Given the description of an element on the screen output the (x, y) to click on. 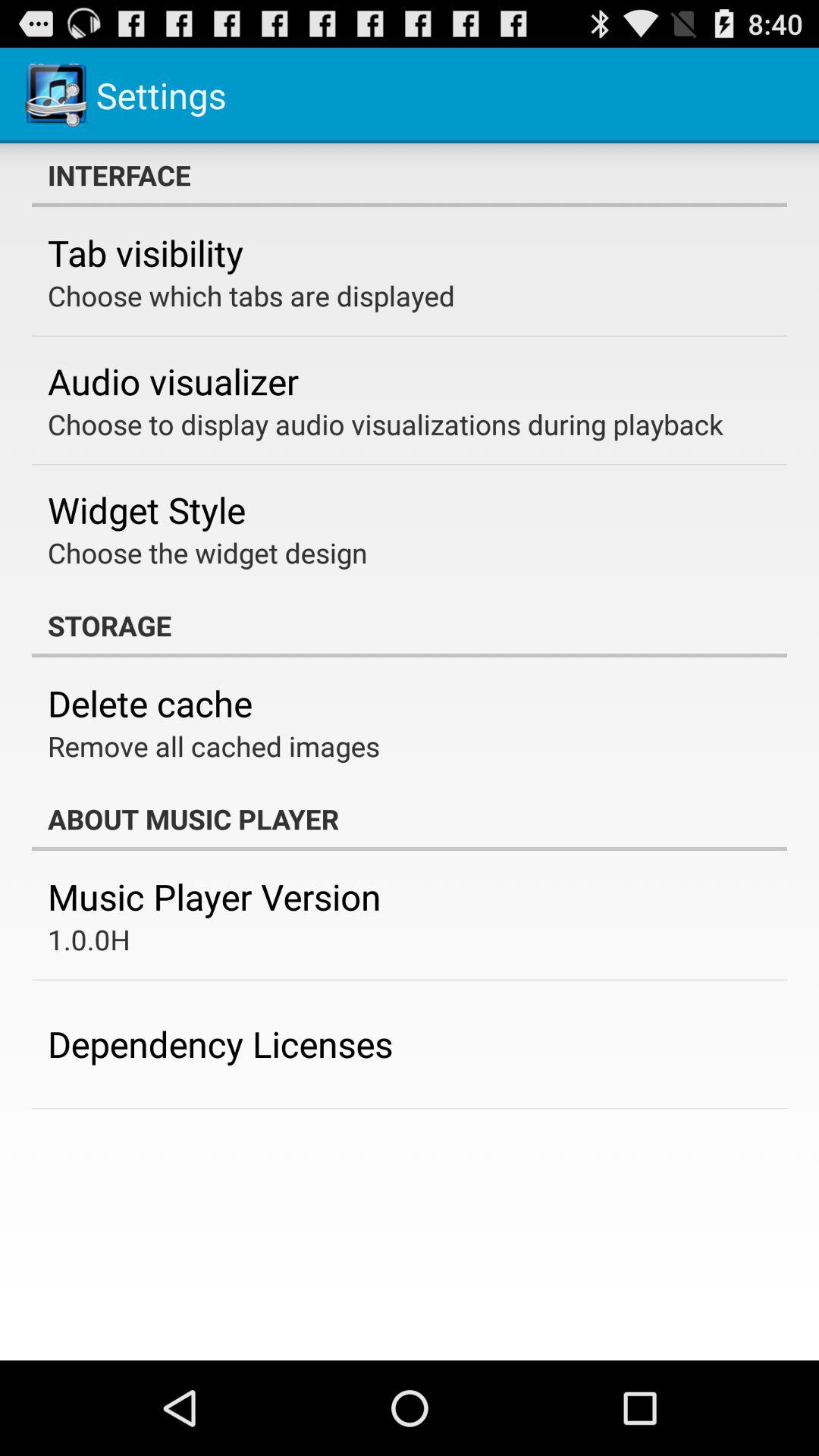
flip until the delete cache (149, 703)
